Given the description of an element on the screen output the (x, y) to click on. 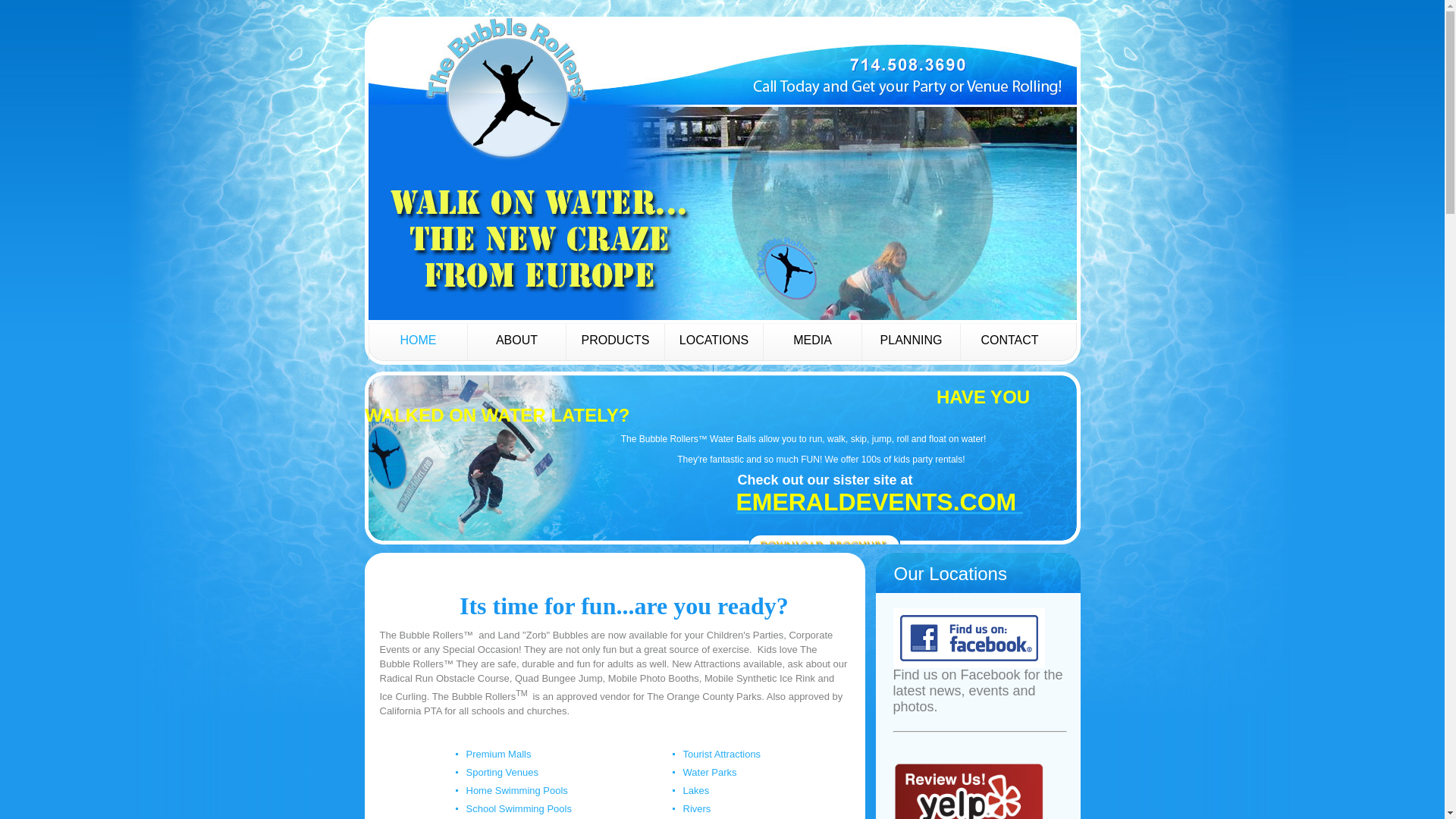
ABOUT (516, 341)
LOCATIONS (712, 341)
EMERALDEVENTS.COM (875, 501)
PLANNING (910, 341)
PRODUCTS (614, 341)
MEDIA (811, 341)
Find us on Facebook (969, 614)
HOME (417, 341)
CONTACT (1008, 341)
